Given the description of an element on the screen output the (x, y) to click on. 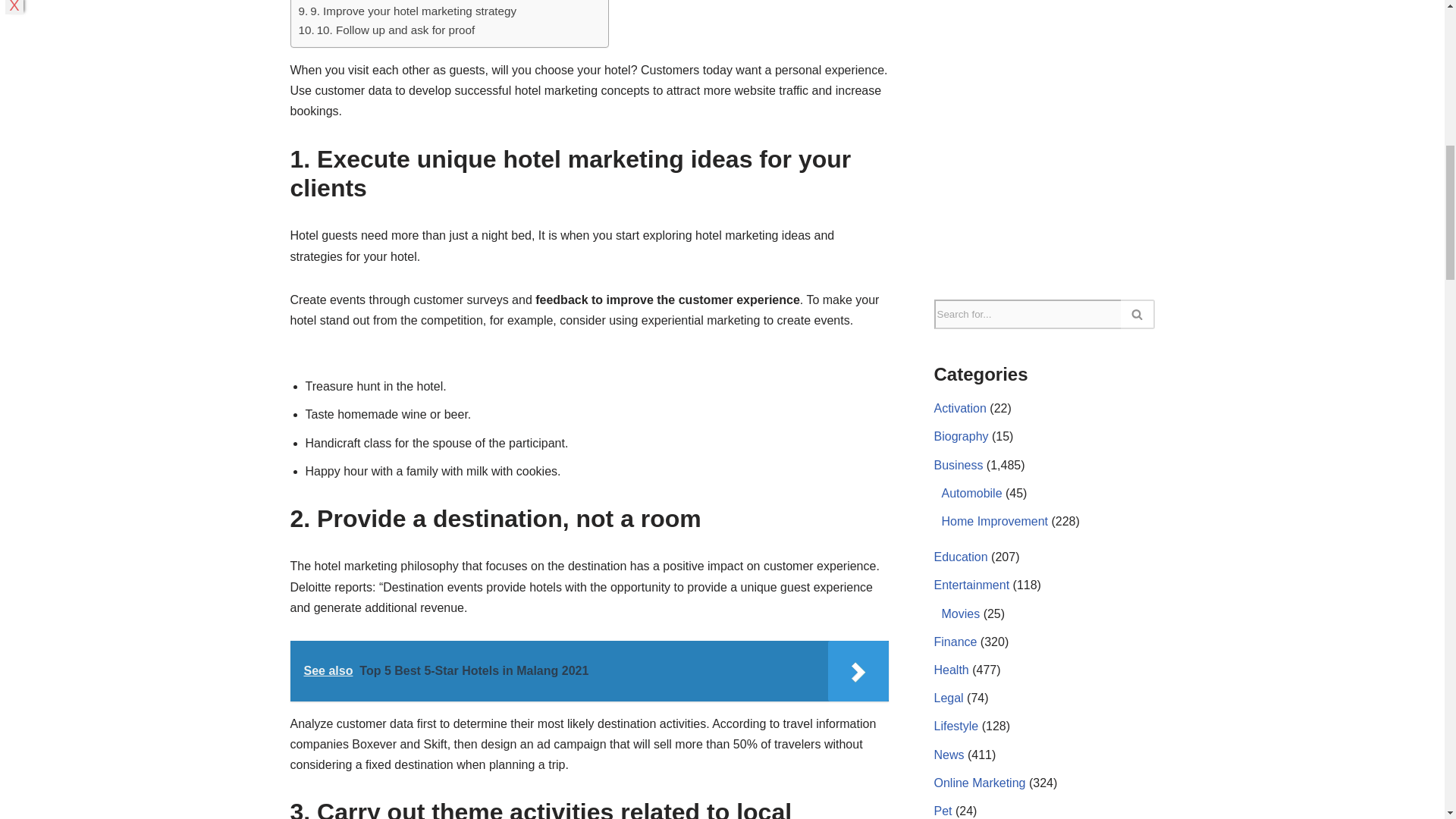
10. Follow up and ask for proof (387, 30)
The two biggest mistakes hoteliers make are: (424, 1)
9. Improve your hotel marketing strategy (407, 11)
